Given the description of an element on the screen output the (x, y) to click on. 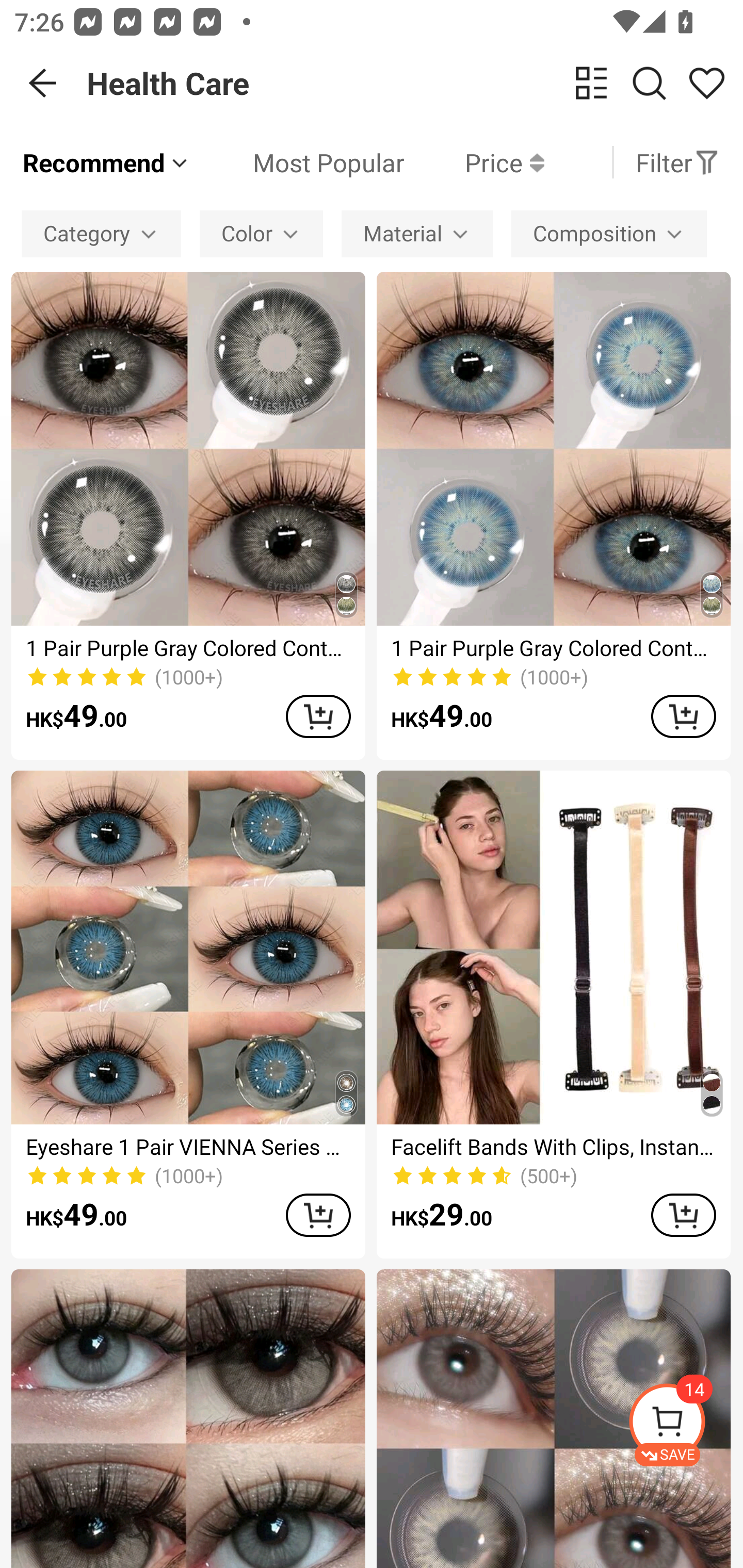
Health Care change view Search Share (414, 82)
change view (591, 82)
Search (648, 82)
Share (706, 82)
Recommend (106, 162)
Most Popular (297, 162)
Price (474, 162)
Filter (677, 162)
Category (101, 233)
Color (261, 233)
Material (416, 233)
Composition (608, 233)
ADD TO CART (318, 716)
ADD TO CART (683, 716)
ADD TO CART (318, 1215)
ADD TO CART (683, 1215)
SAVE (685, 1424)
